Given the description of an element on the screen output the (x, y) to click on. 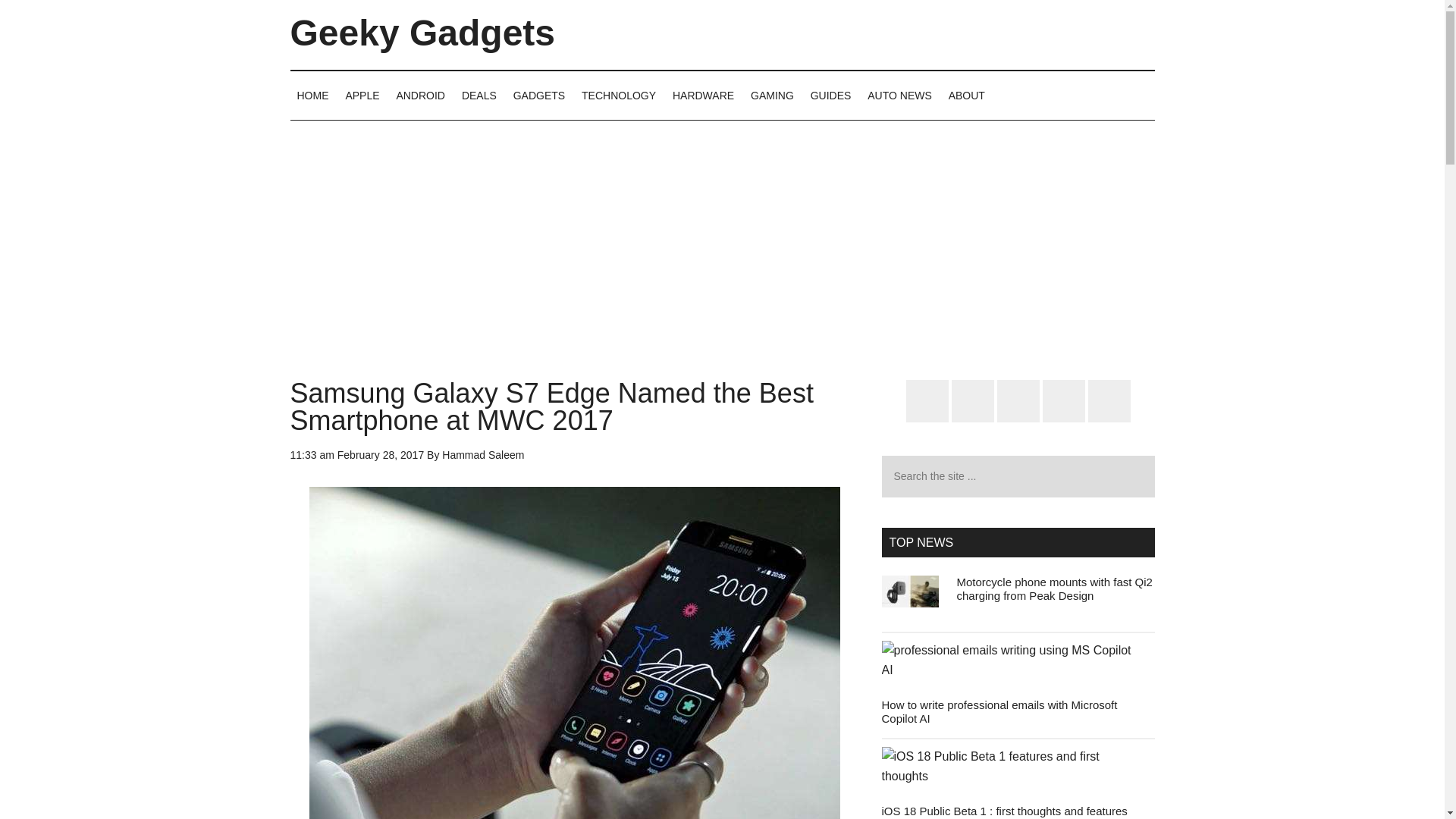
Geeky Gadgets (421, 33)
GUIDES (831, 95)
AUTO NEWS (899, 95)
iOS 18 Public Beta 1 : first thoughts and features tested (1003, 811)
GADGETS (539, 95)
APPLE (361, 95)
TECHNOLOGY (618, 95)
Hammad Saleem (483, 454)
How to write professional emails with Microsoft Copilot AI (998, 711)
DEALS (478, 95)
GAMING (772, 95)
ABOUT (966, 95)
